Given the description of an element on the screen output the (x, y) to click on. 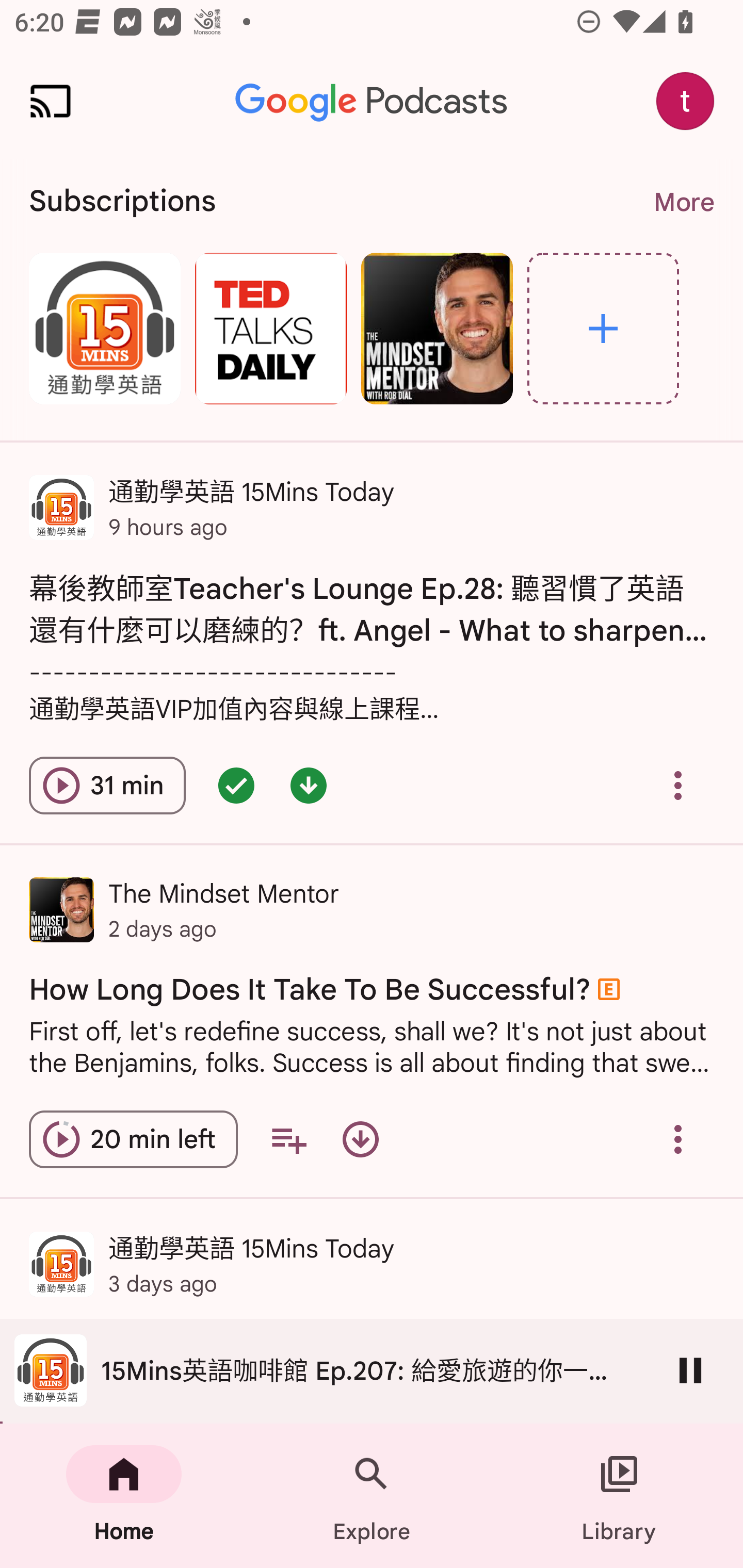
Cast. Disconnected (50, 101)
More More. Navigate to subscriptions page. (683, 202)
通勤學英語 15Mins Today (104, 328)
TED Talks Daily (270, 328)
The Mindset Mentor (436, 328)
Explore (603, 328)
Episode queued - double tap for options (235, 785)
Episode downloaded - double tap for options (308, 785)
Overflow menu (677, 785)
Add to your queue (288, 1139)
Download episode (360, 1139)
Overflow menu (677, 1139)
Pause (690, 1370)
Explore (371, 1495)
Library (619, 1495)
